Given the description of an element on the screen output the (x, y) to click on. 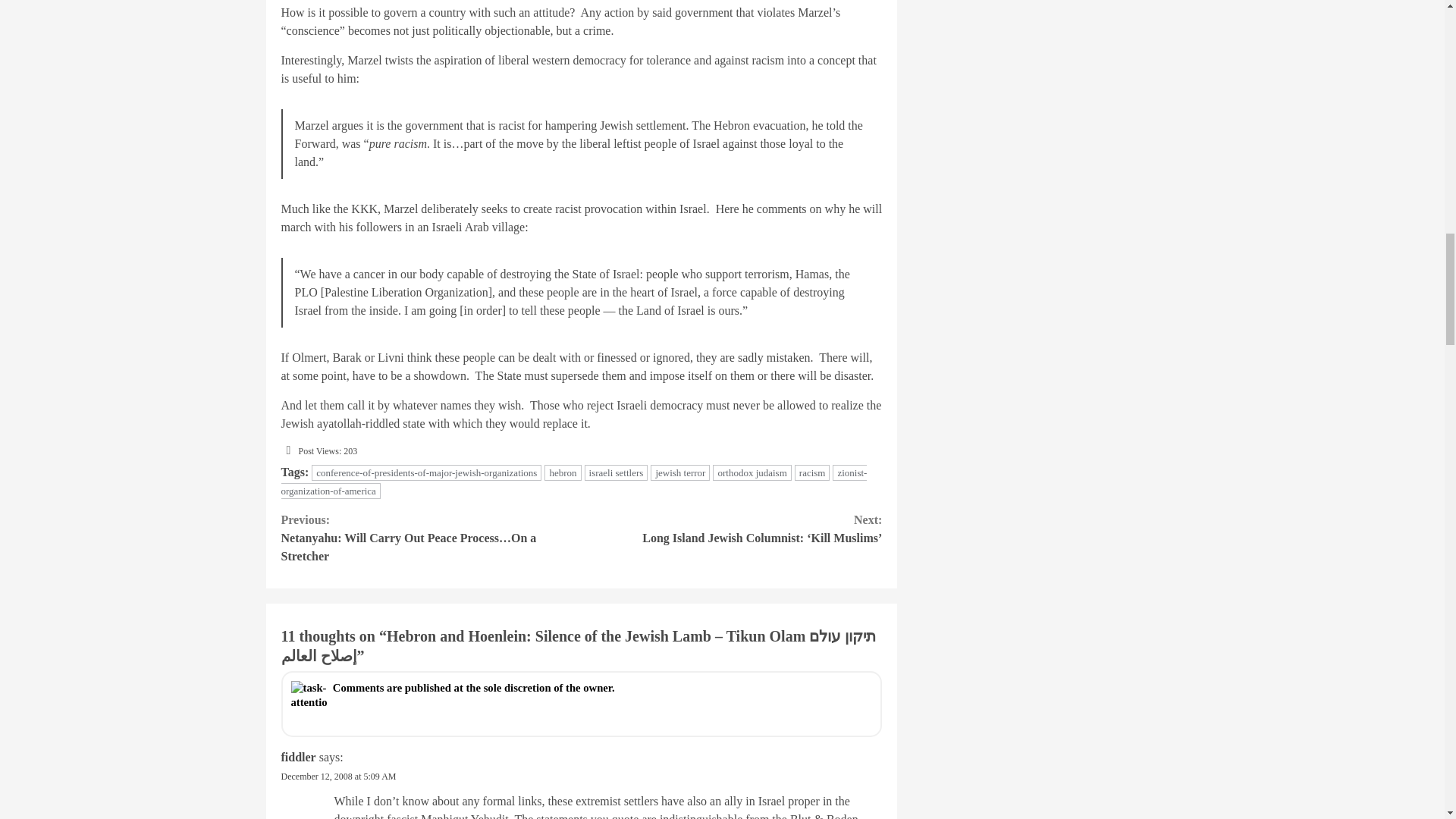
jewish terror (680, 472)
orthodox judaism (751, 472)
conference-of-presidents-of-major-jewish-organizations (426, 472)
racism (811, 472)
December 12, 2008 at 5:09 AM (338, 776)
hebron (562, 472)
israeli settlers (616, 472)
zionist-organization-of-america (573, 481)
